Given the description of an element on the screen output the (x, y) to click on. 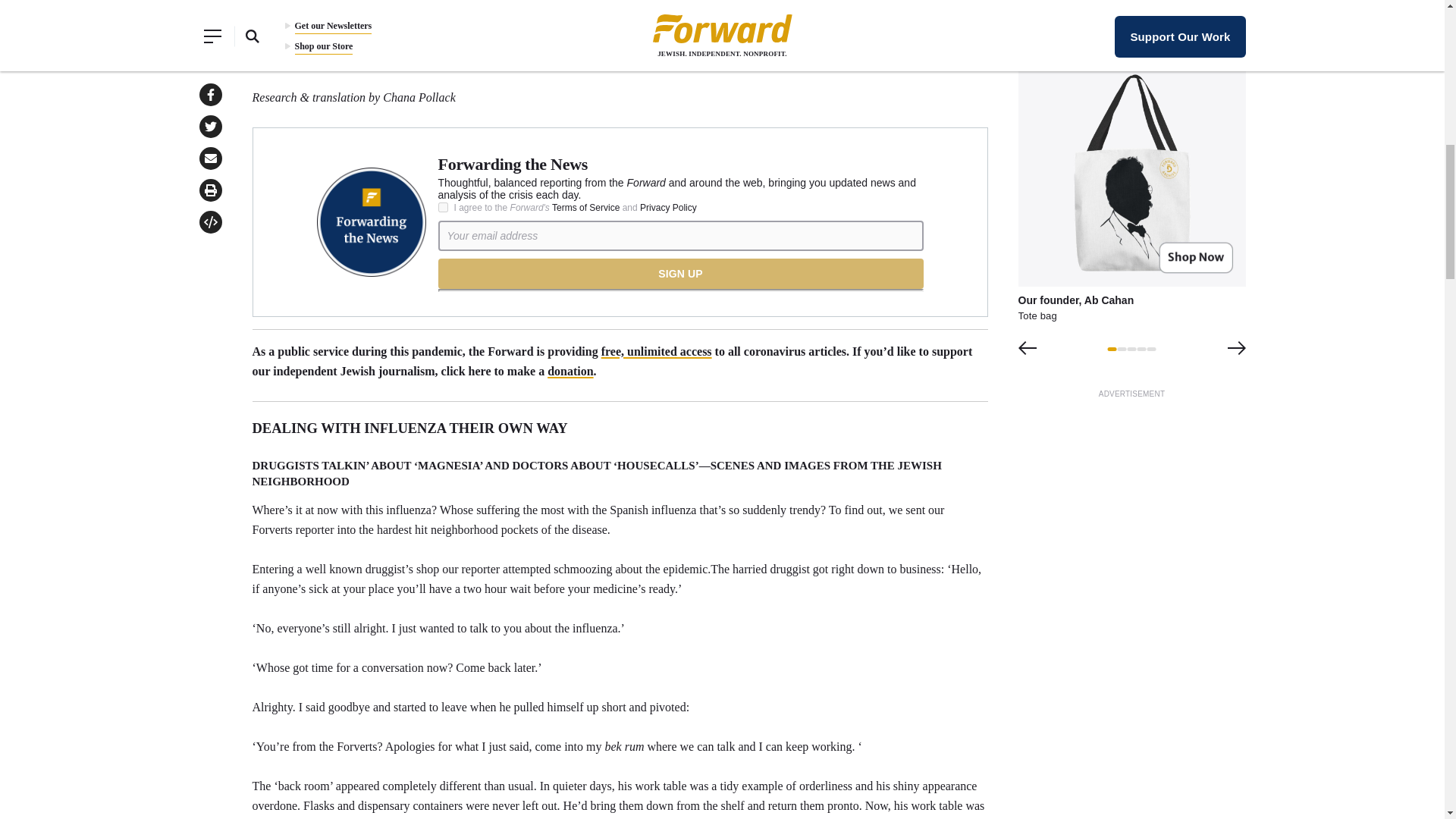
Yes (443, 207)
Sign Up (680, 273)
